Given the description of an element on the screen output the (x, y) to click on. 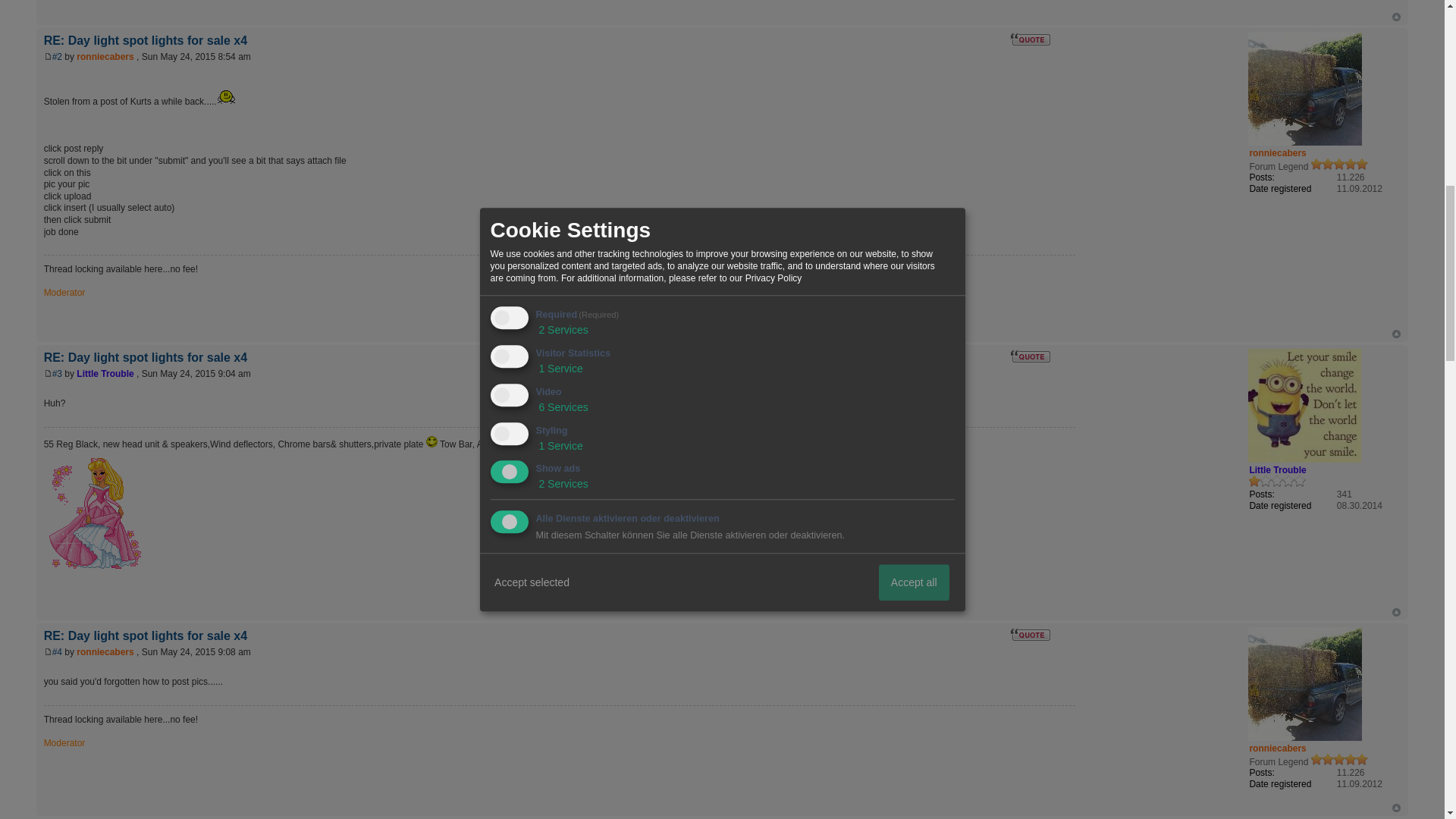
RE: Day light spot lights for sale x4 (57, 652)
RE: Day light spot lights for sale x4 (145, 635)
Little Trouble (1277, 470)
Top (1395, 17)
Top (1395, 807)
ronniecabers (105, 652)
RE: Day light spot lights for sale x4 (57, 373)
ronniecabers (1277, 153)
Top (1395, 612)
RE: Day light spot lights for sale x4 (145, 40)
Top (1395, 612)
RE: Day light spot lights for sale x4 (145, 357)
Top (1395, 334)
Top (1395, 17)
Little Trouble (105, 373)
